Given the description of an element on the screen output the (x, y) to click on. 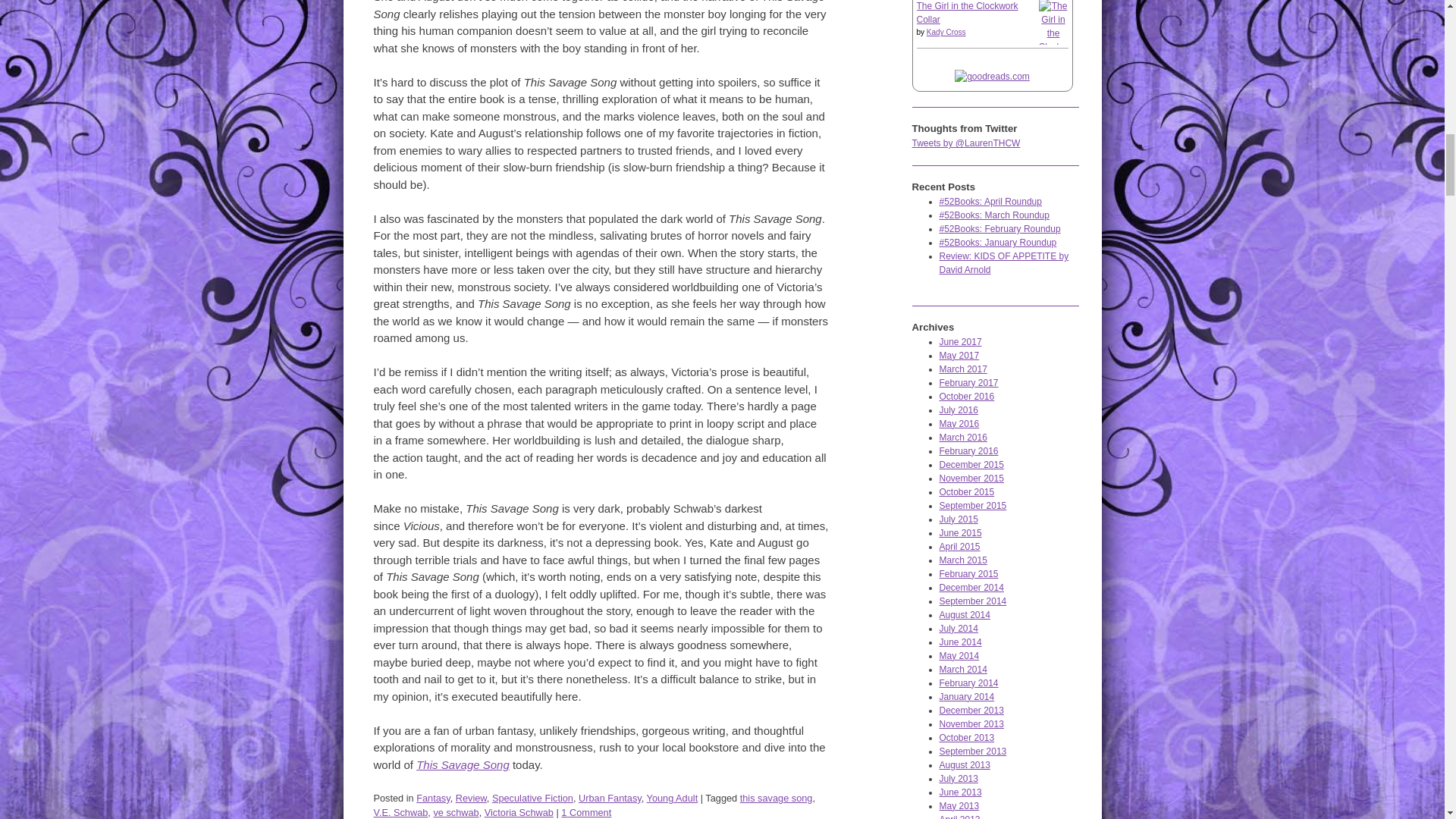
ve schwab (455, 812)
Victoria Schwab (518, 812)
Speculative Fiction (532, 797)
This Savage Song (462, 764)
Young Adult (672, 797)
Fantasy (432, 797)
1 Comment (585, 812)
Review (470, 797)
Urban Fantasy (610, 797)
V.E. Schwab (400, 812)
